Given the description of an element on the screen output the (x, y) to click on. 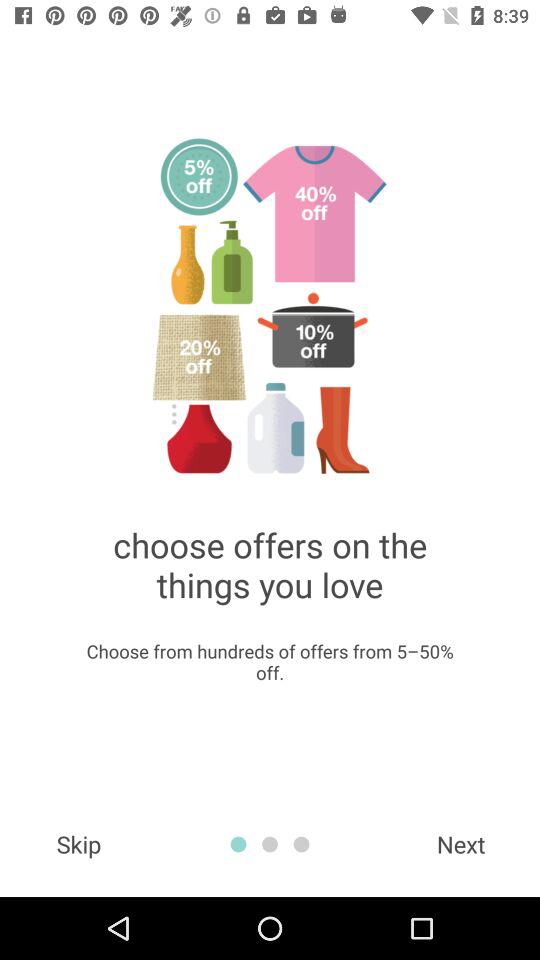
press item at the bottom left corner (78, 844)
